Given the description of an element on the screen output the (x, y) to click on. 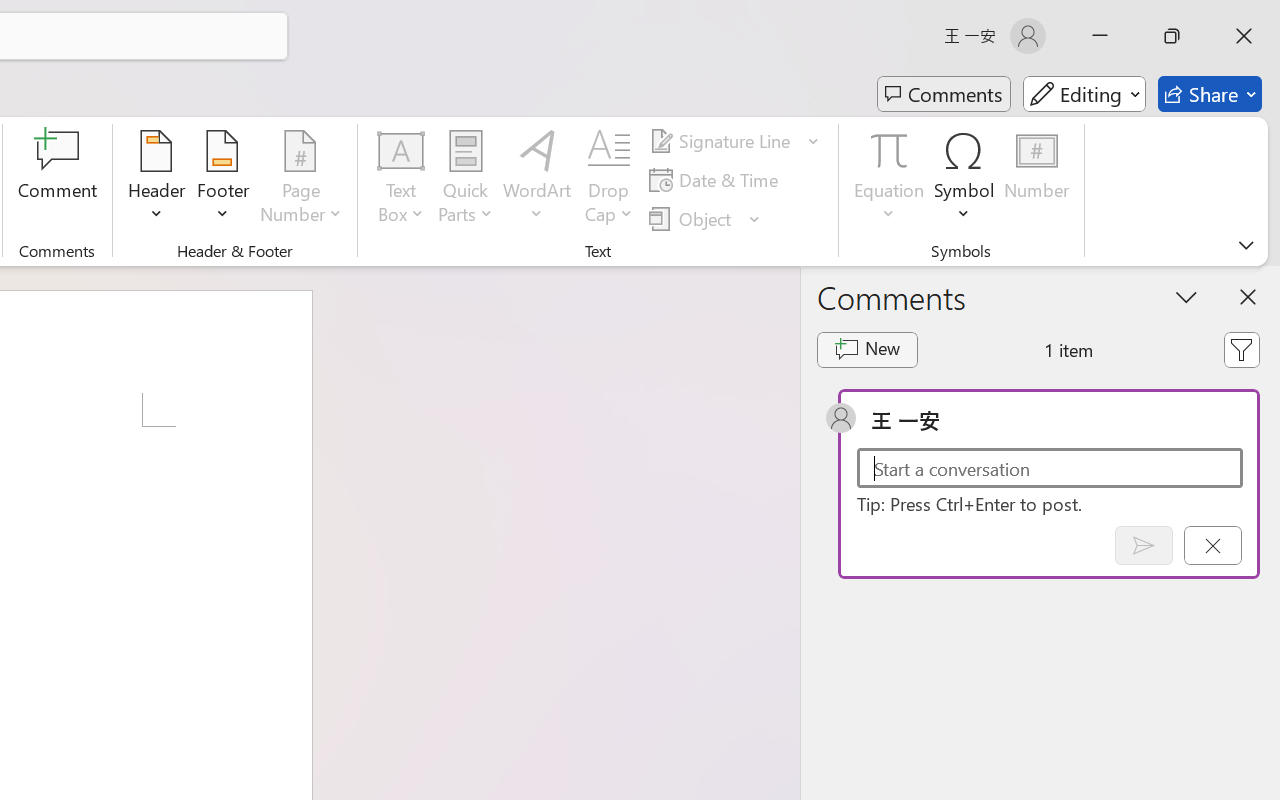
Object... (705, 218)
Drop Cap (609, 179)
Equation (889, 179)
Date & Time... (716, 179)
WordArt (537, 179)
Header (157, 179)
Number... (1036, 179)
Signature Line (722, 141)
Filter (1241, 350)
Post comment (Ctrl + Enter) (1143, 545)
New comment (866, 350)
